Given the description of an element on the screen output the (x, y) to click on. 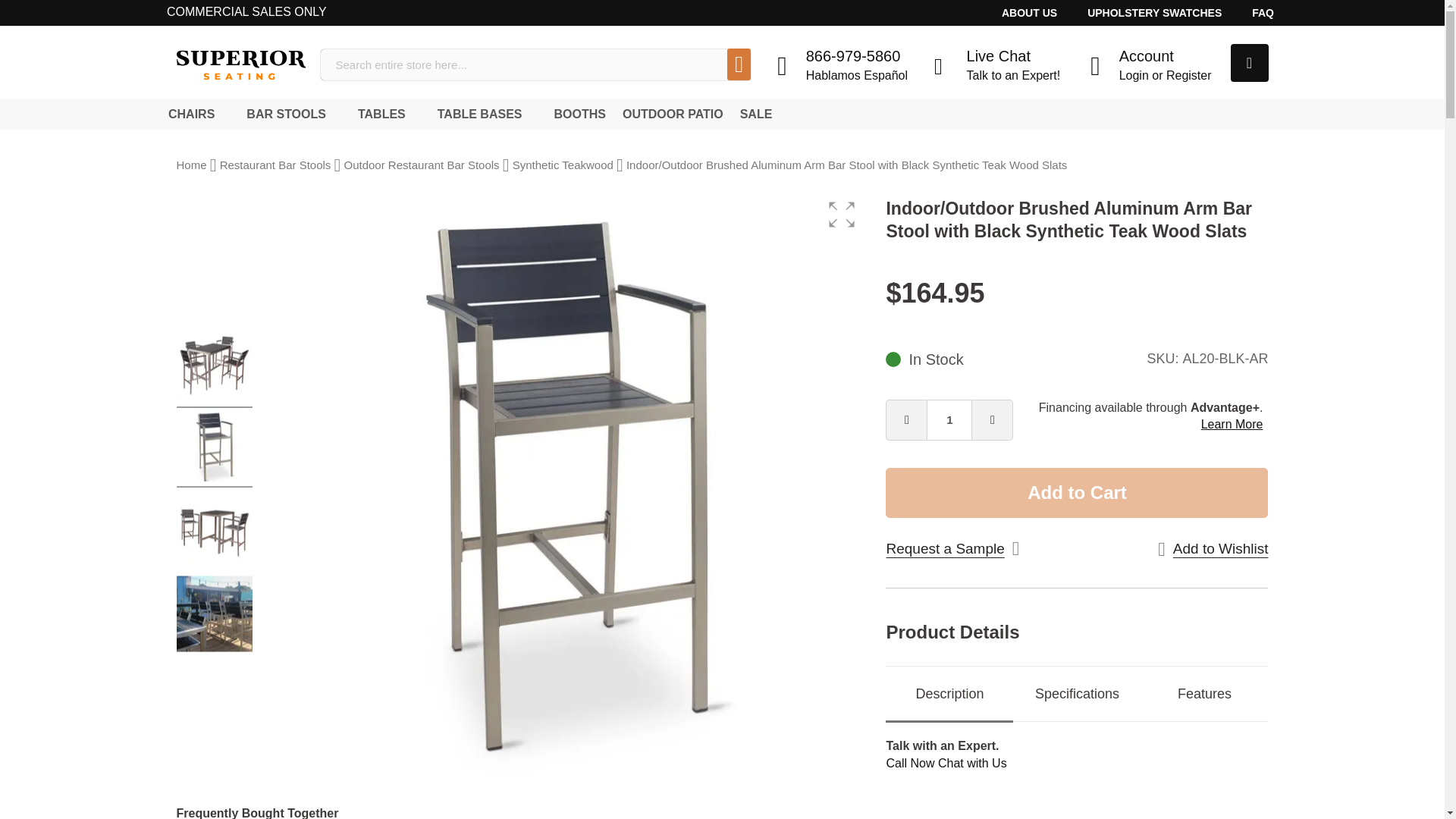
UPHOLSTERY SWATCHES (1153, 12)
Outdoor Restaurant Bar Stools (421, 164)
BAR STOOLS (288, 114)
TABLE BASES (482, 114)
FAQ (1262, 12)
CHAIRS (194, 114)
TABLES (384, 114)
Increase Quantity (992, 419)
BOOTHS (574, 114)
Synthetic Teakwood (562, 164)
TABLES (384, 114)
Superior Seating (240, 64)
BAR STOOLS (288, 114)
Decrease Quantity (905, 419)
Table Bases (482, 114)
